Given the description of an element on the screen output the (x, y) to click on. 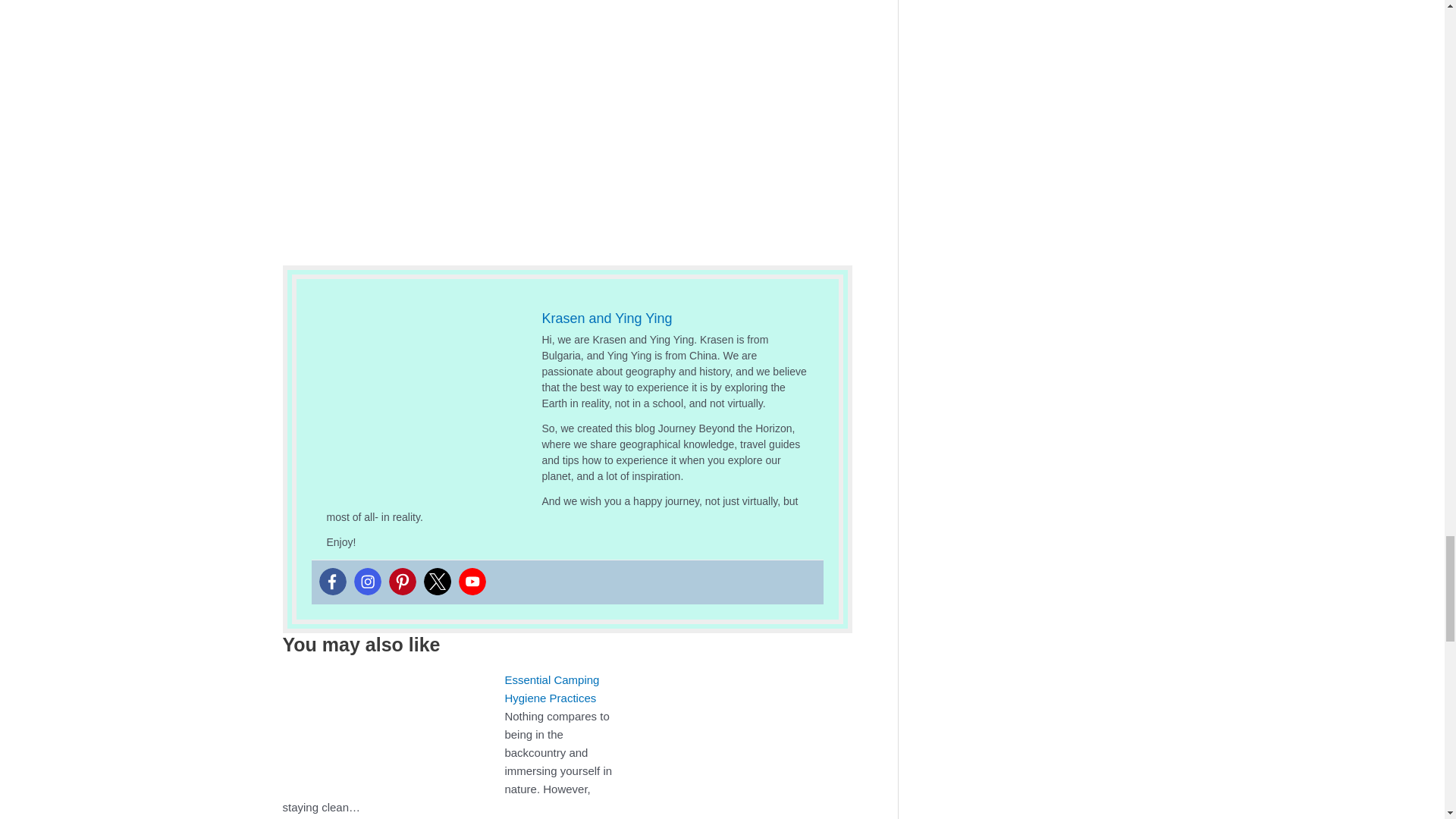
Facebook (332, 581)
Instagram (366, 581)
Pinterest (401, 581)
Twitter (436, 581)
